Given the description of an element on the screen output the (x, y) to click on. 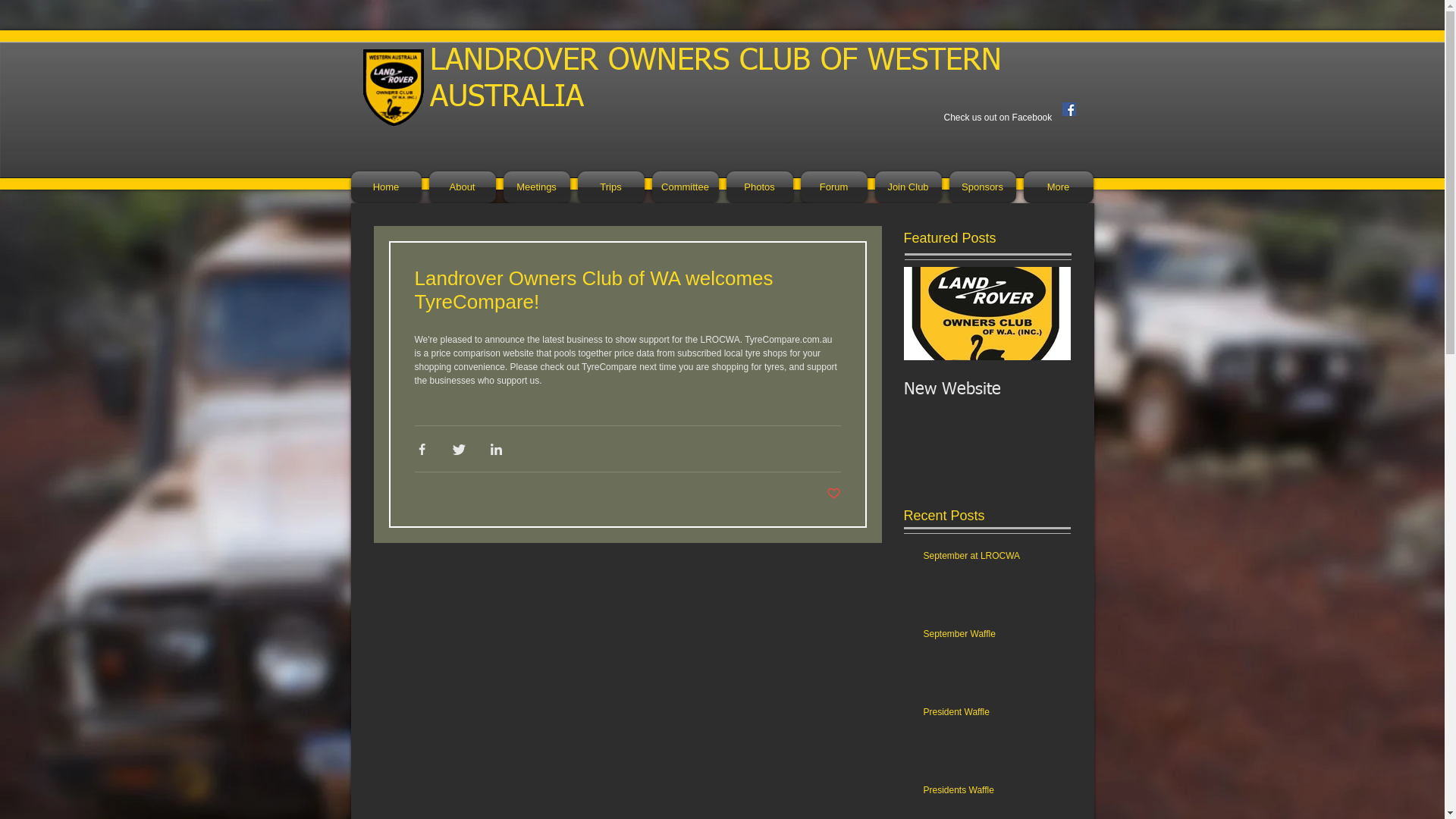
club-logo-sml.gif Element type: hover (392, 87)
Photos Element type: text (758, 187)
Post not marked as liked Element type: text (833, 494)
Sponsors Element type: text (981, 187)
September Waffle Element type: text (992, 636)
Join Club Element type: text (907, 187)
New Website Element type: text (986, 389)
Meetings Element type: text (535, 187)
Home Element type: text (387, 187)
More Element type: text (1055, 187)
President Waffle Element type: text (992, 715)
Forum Element type: text (833, 187)
Trips Element type: text (610, 187)
Presidents Waffle Element type: text (992, 793)
About Element type: text (461, 187)
September at LROCWA Element type: text (992, 558)
Committee Element type: text (684, 187)
